Given the description of an element on the screen output the (x, y) to click on. 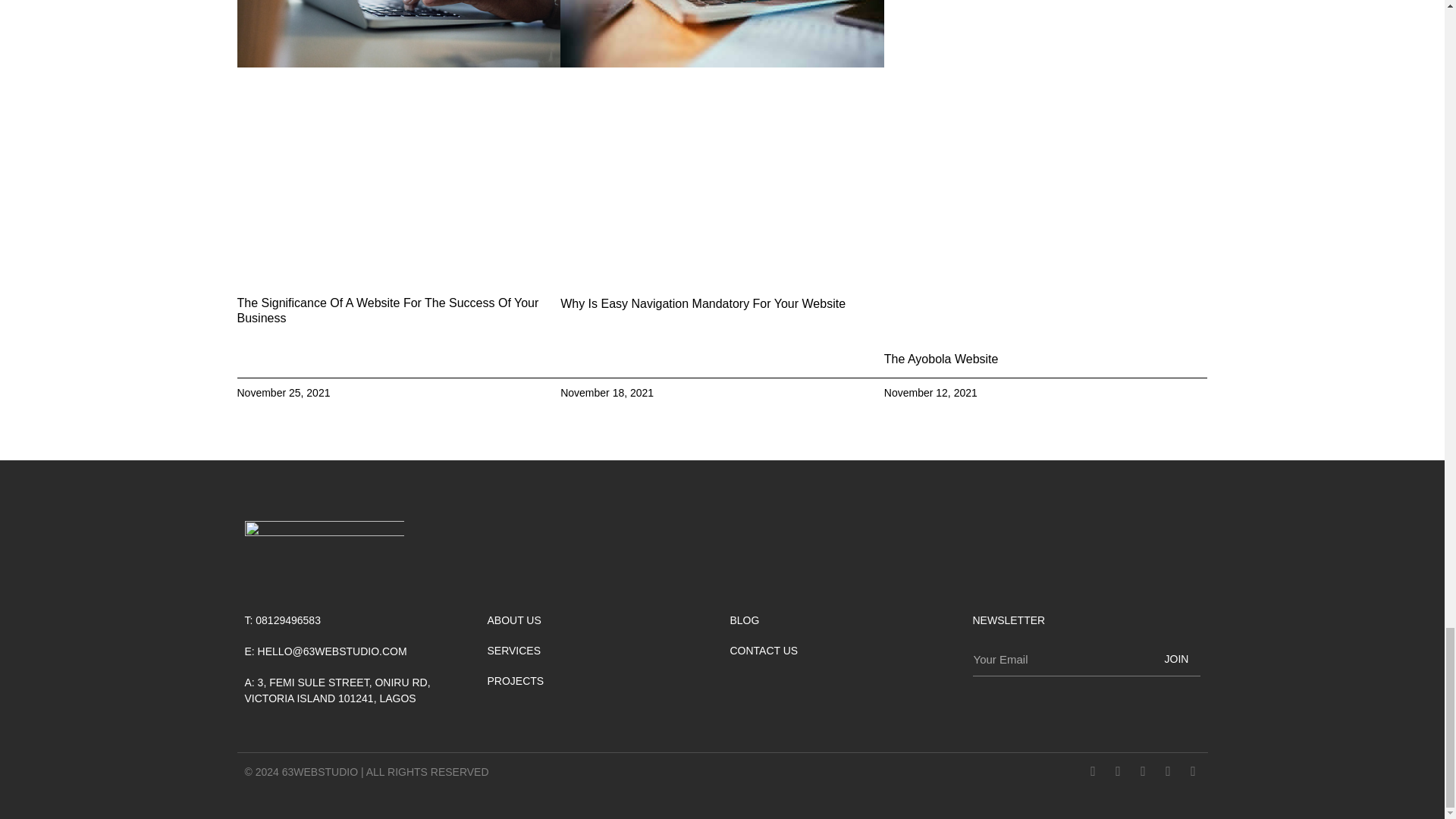
The Ayobola Website (940, 358)
T: 08129496583 (282, 620)
SERVICES (514, 650)
ABOUT US (514, 620)
PROJECTS (514, 680)
Why Is Easy Navigation Mandatory For Your Website (702, 303)
